Given the description of an element on the screen output the (x, y) to click on. 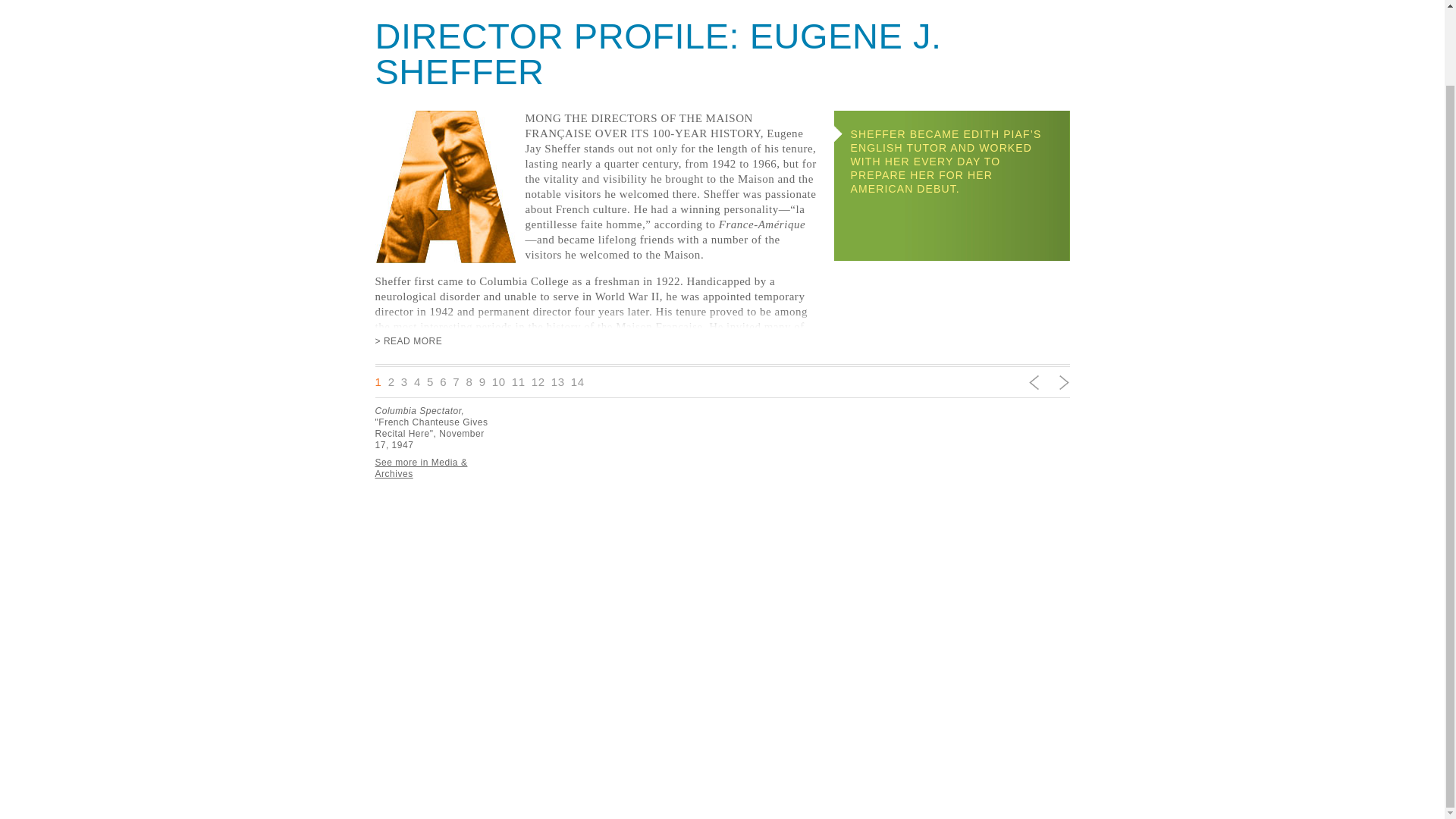
THE EARLY YEARS (996, 2)
10 (498, 381)
11 (518, 381)
13 (557, 381)
12 (537, 381)
